Given the description of an element on the screen output the (x, y) to click on. 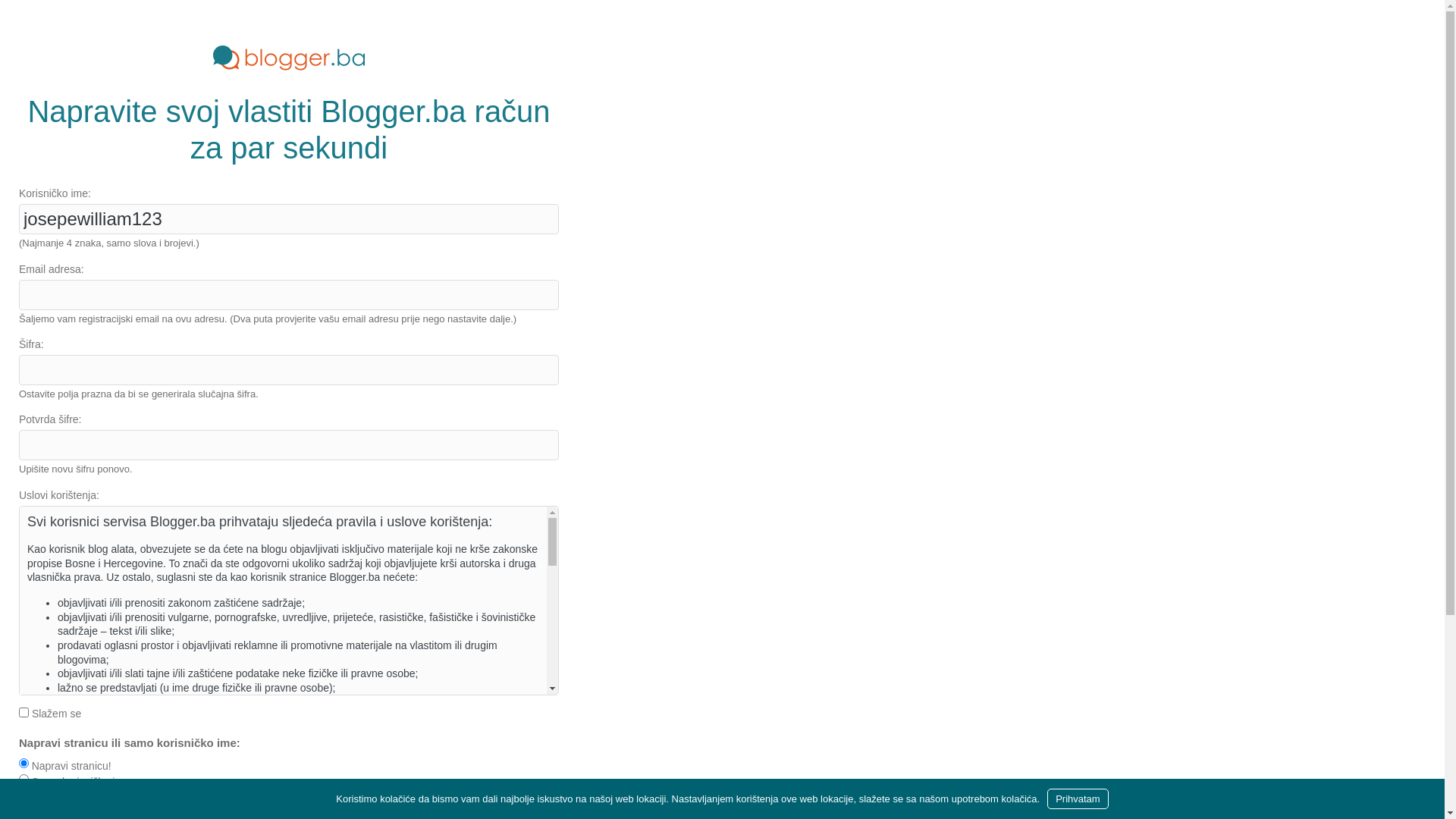
Prihvatam Element type: text (1077, 798)
